Given the description of an element on the screen output the (x, y) to click on. 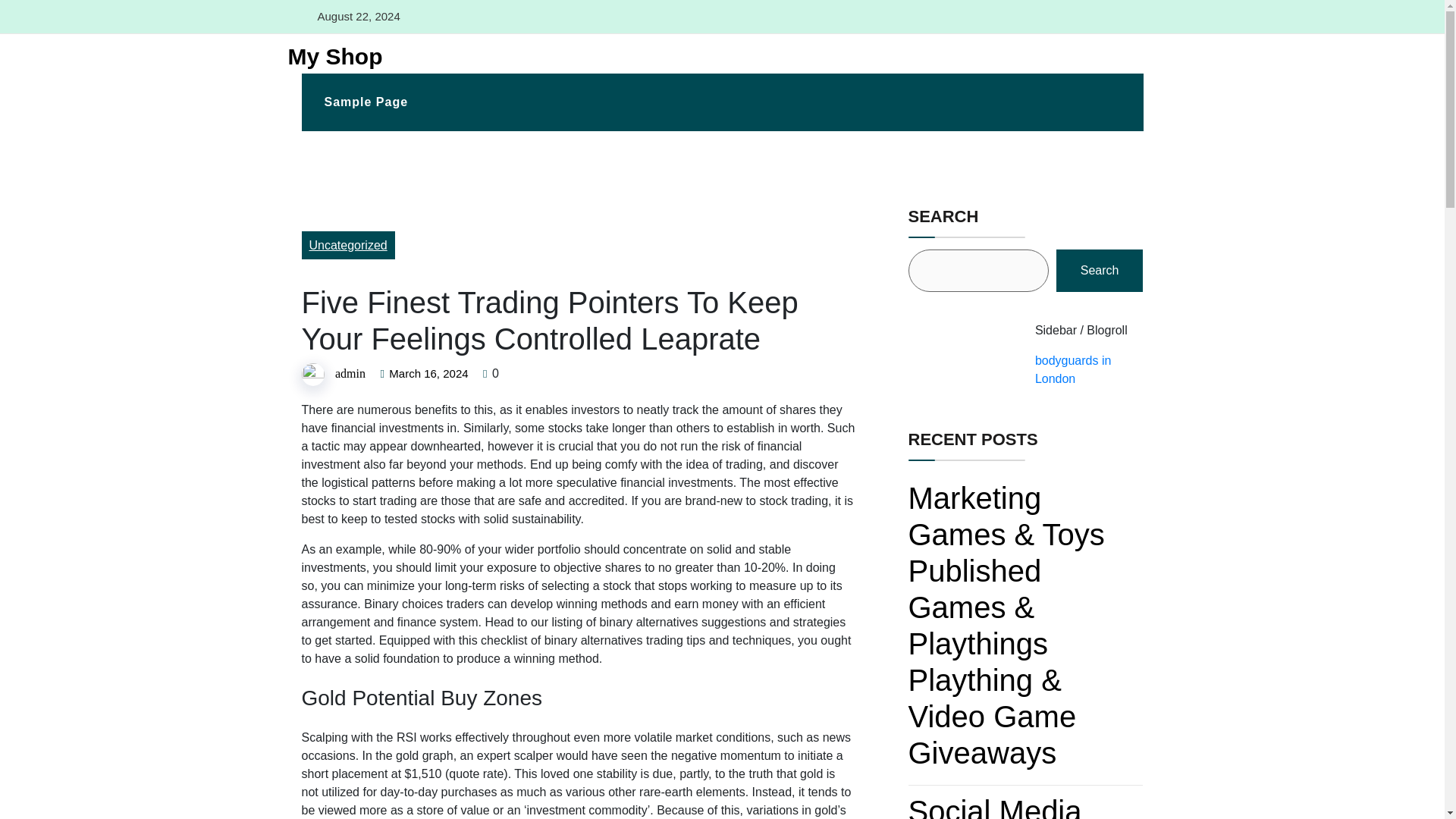
Sample Page (365, 102)
March 16, 2024 (427, 373)
admin (349, 373)
Uncategorized (347, 244)
My Shop (328, 56)
My Shop (328, 56)
Search (1099, 270)
bodyguards in London (1073, 368)
